Given the description of an element on the screen output the (x, y) to click on. 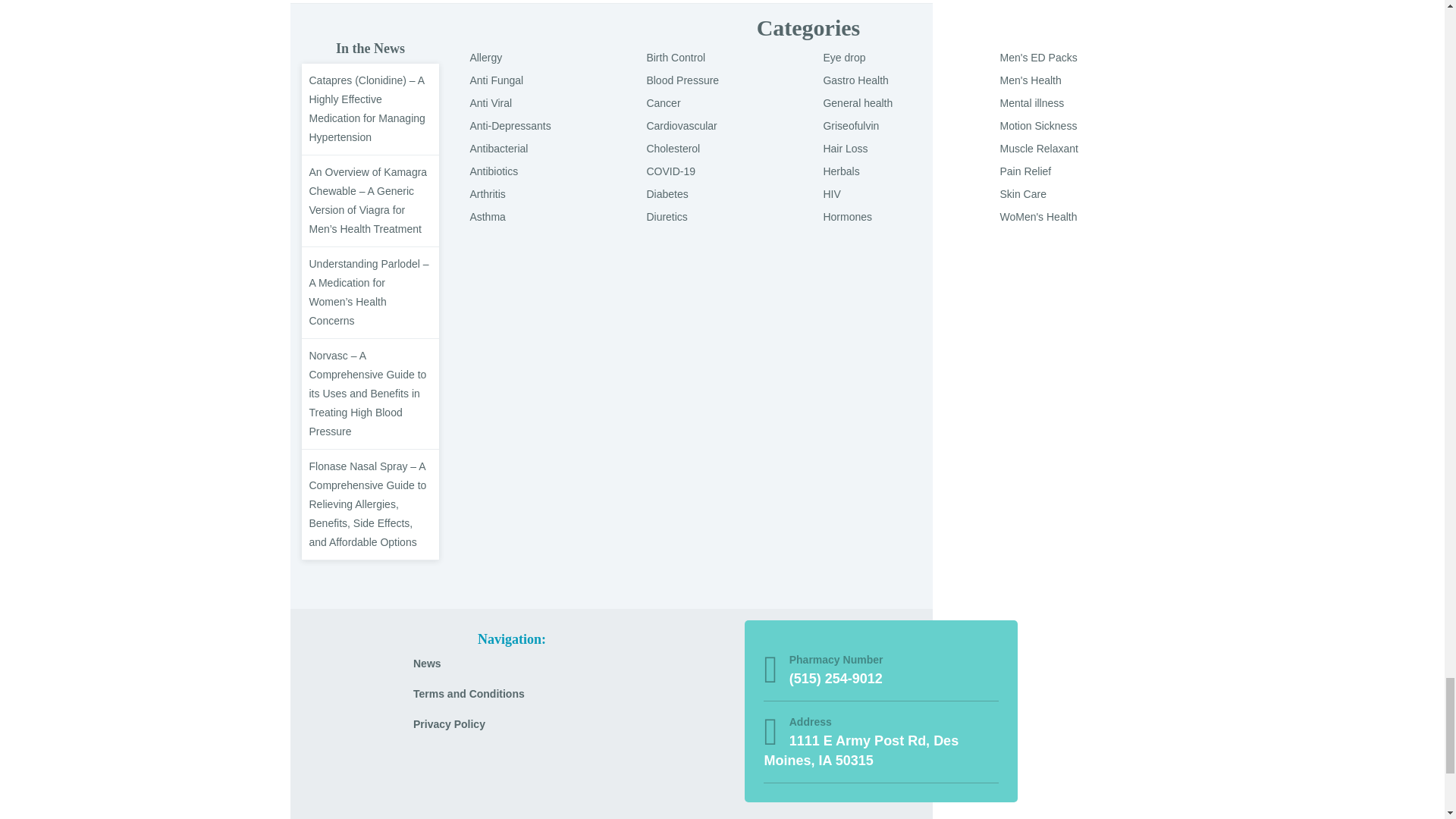
Cholesterol (673, 148)
Anti Viral (490, 102)
Arthritis (486, 193)
Diabetes (666, 193)
Birth Control (675, 57)
Allergy (485, 57)
Antibiotics (493, 171)
Antibacterial (497, 148)
Blood Pressure (682, 80)
Cancer (662, 102)
